Given the description of an element on the screen output the (x, y) to click on. 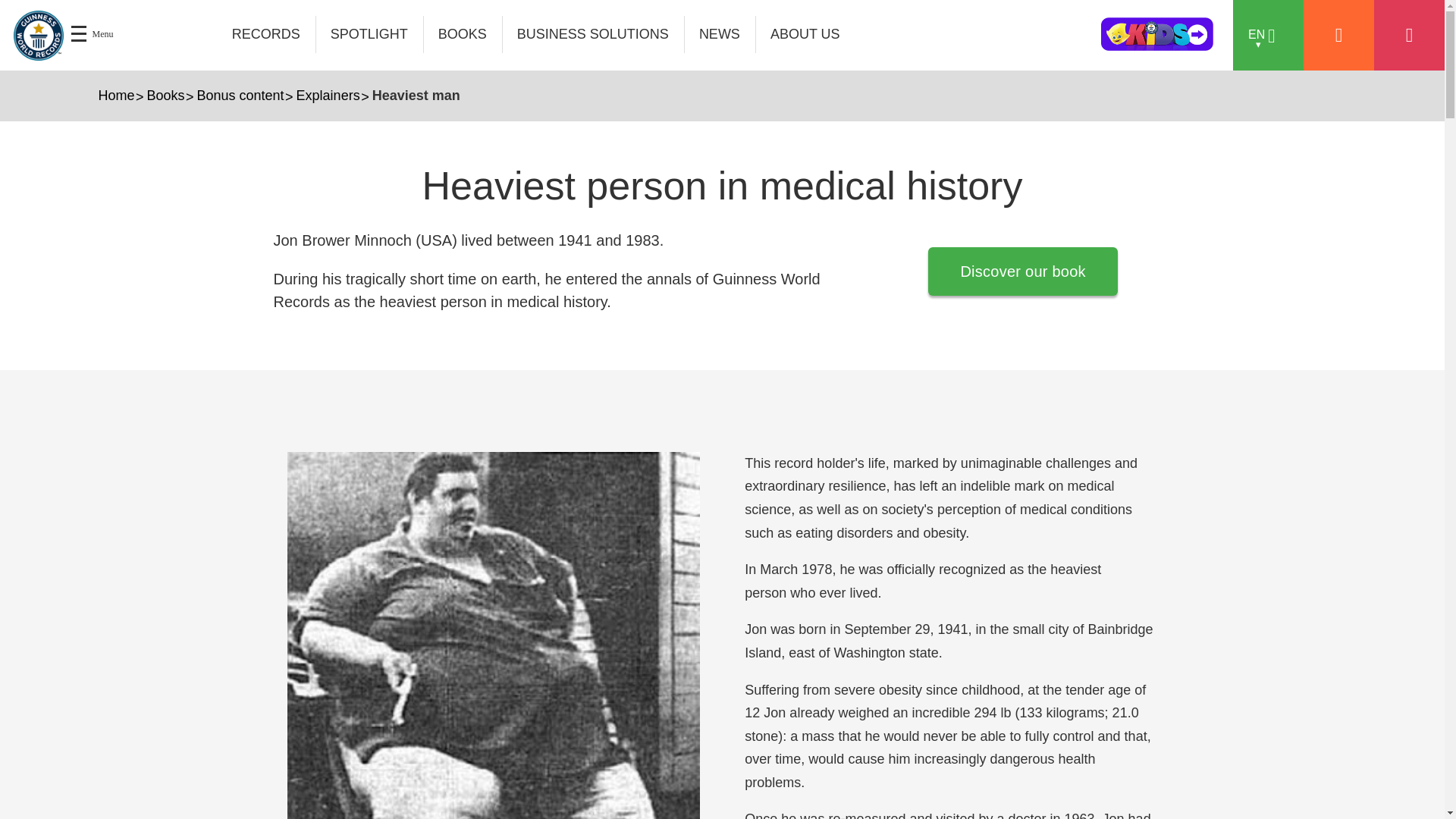
NEWS (719, 34)
SPOTLIGHT (369, 34)
search (1029, 38)
Select Language (1268, 35)
EN (1268, 35)
BOOKS (462, 34)
Account (1338, 35)
BUSINESS SOLUTIONS (593, 34)
RECORDS (265, 34)
ABOUT US (805, 34)
